Given the description of an element on the screen output the (x, y) to click on. 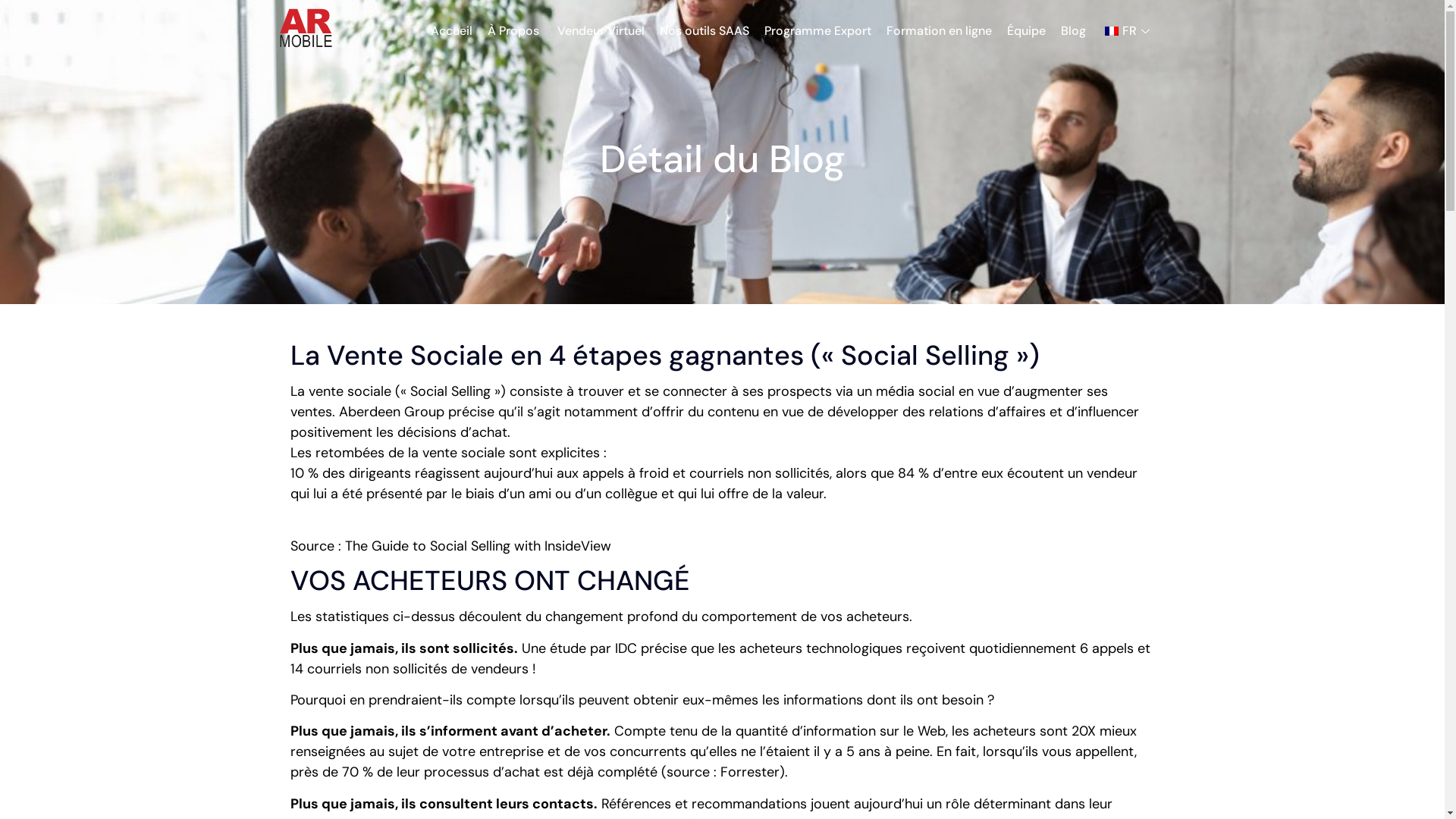
Programme Export Element type: text (817, 30)
Nos outils SAAS Element type: text (704, 30)
FR Element type: text (1127, 30)
Vendeur Virtuel Element type: text (600, 30)
Formation en ligne Element type: text (938, 30)
French Element type: hover (1110, 30)
Blog Element type: text (1072, 30)
Accueil Element type: text (451, 30)
